Given the description of an element on the screen output the (x, y) to click on. 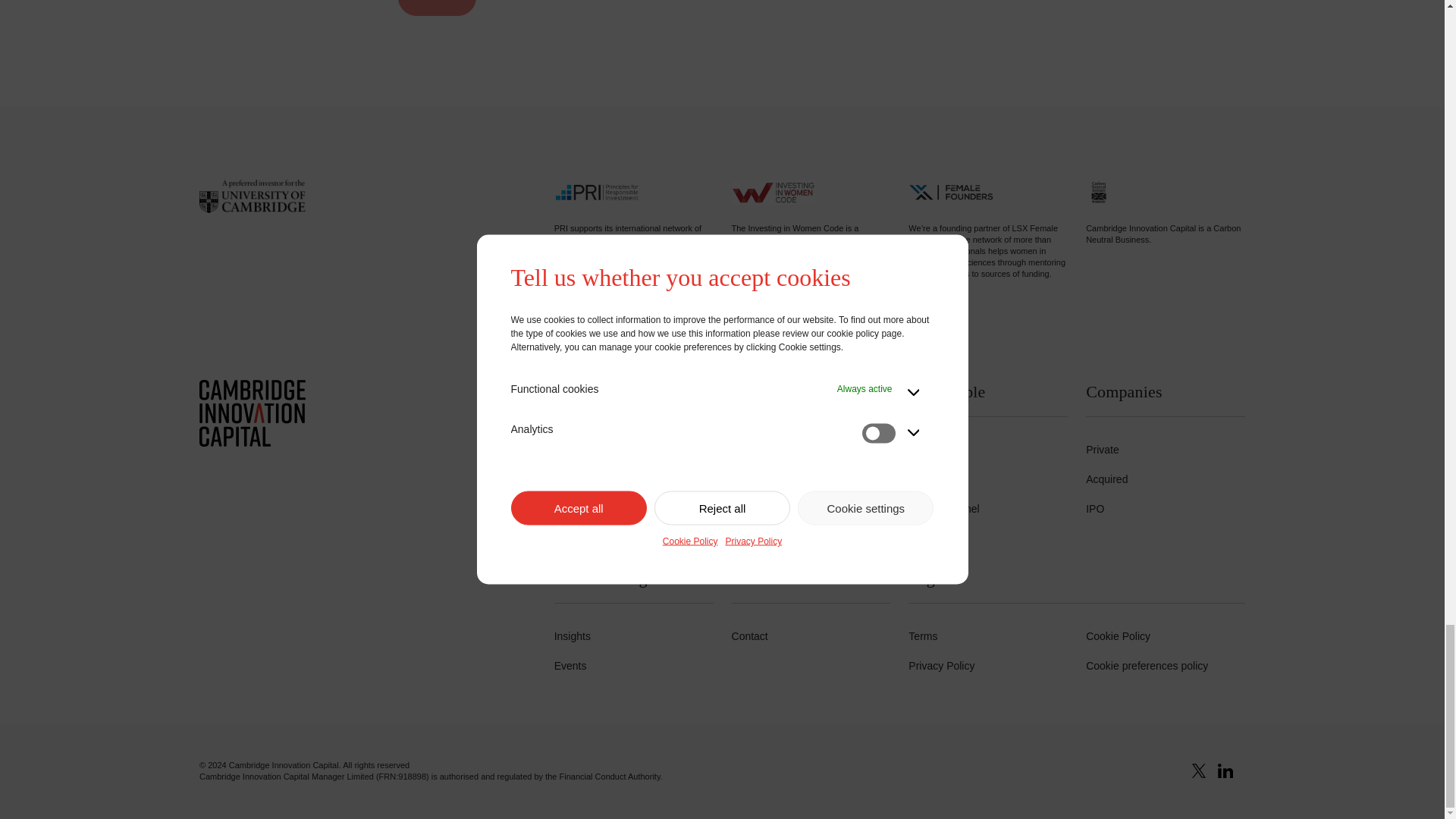
Subscribe (436, 7)
